Given the description of an element on the screen output the (x, y) to click on. 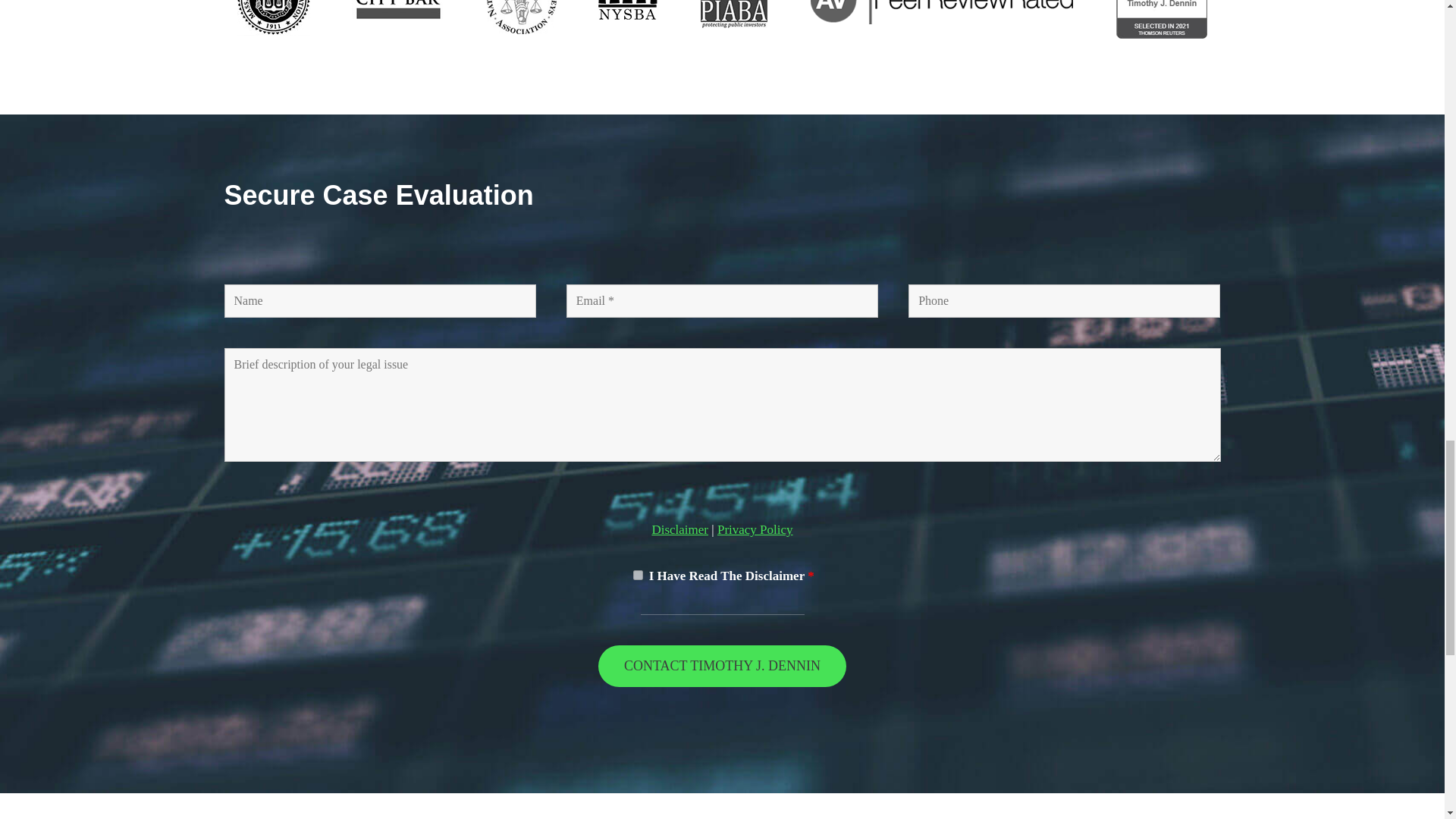
Contact Timothy J. Dennin (721, 666)
on (638, 574)
